Given the description of an element on the screen output the (x, y) to click on. 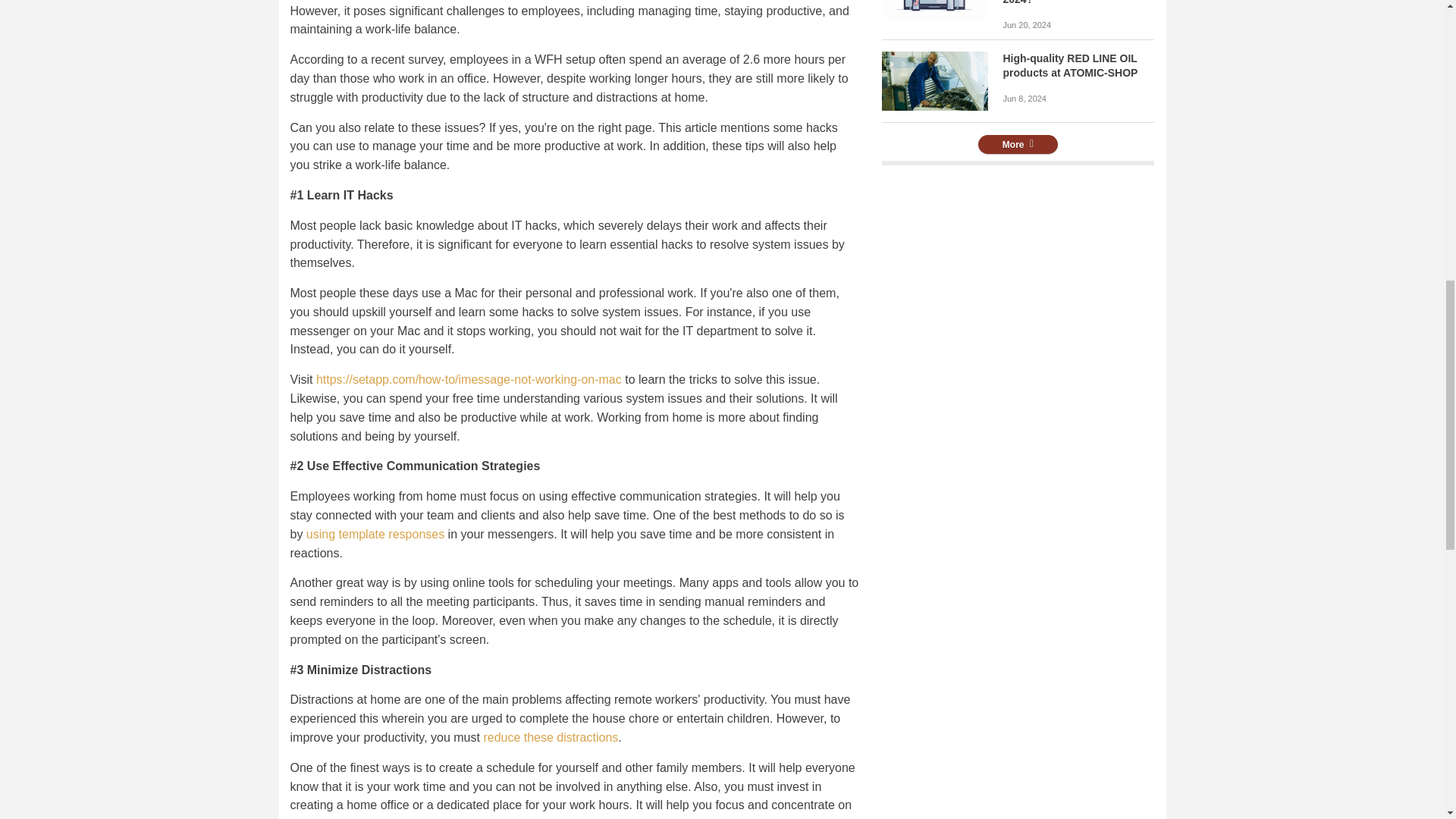
systemsdigest (933, 81)
systemsdigest (933, 10)
